Given the description of an element on the screen output the (x, y) to click on. 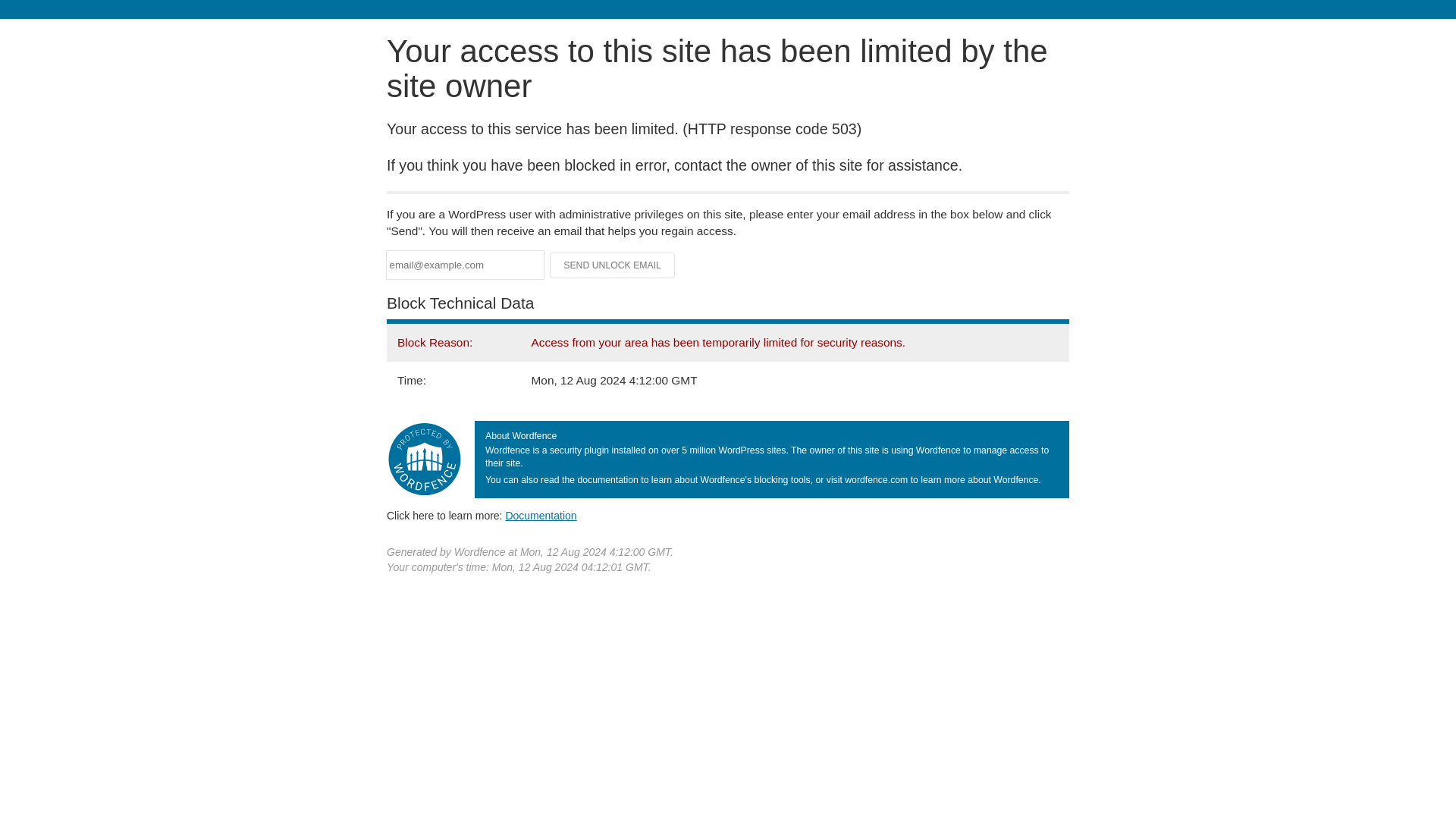
Send Unlock Email (612, 265)
Documentation (540, 515)
Send Unlock Email (612, 265)
